Given the description of an element on the screen output the (x, y) to click on. 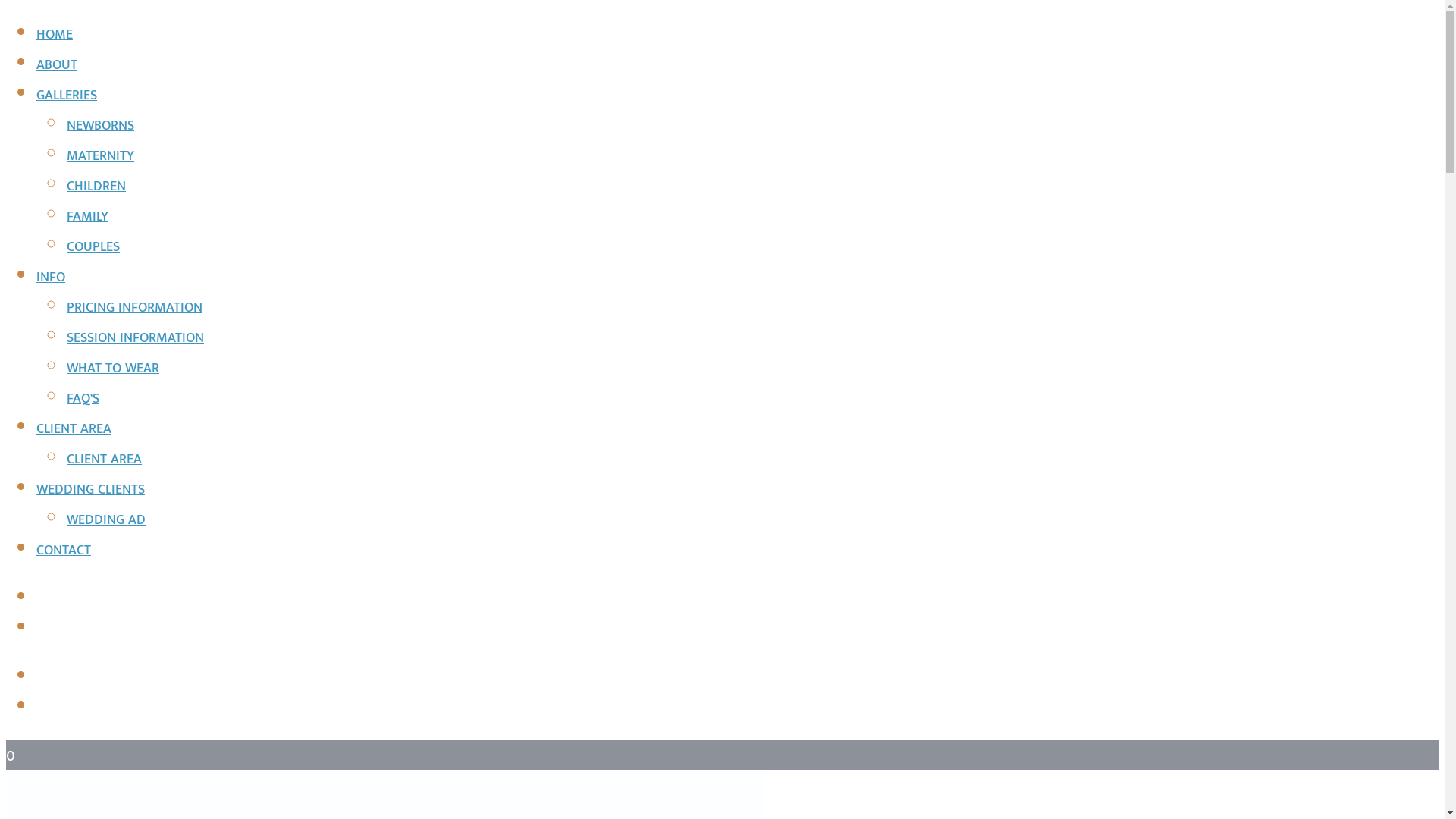
NEWBORNS Element type: text (100, 125)
CLIENT AREA Element type: text (103, 459)
HOME Element type: text (54, 34)
GALLERIES Element type: text (66, 95)
WEDDING AD Element type: text (105, 519)
FAMILY Element type: text (87, 216)
CONTACT Element type: text (63, 550)
SESSION INFORMATION Element type: text (134, 337)
PRICING INFORMATION Element type: text (134, 307)
CHILDREN Element type: text (95, 186)
CLIENT AREA Element type: text (73, 428)
ABOUT Element type: text (56, 64)
INFO Element type: text (50, 277)
MATERNITY Element type: text (100, 155)
WEDDING CLIENTS Element type: text (90, 489)
COUPLES Element type: text (92, 246)
WHAT TO WEAR Element type: text (112, 368)
